Given the description of an element on the screen output the (x, y) to click on. 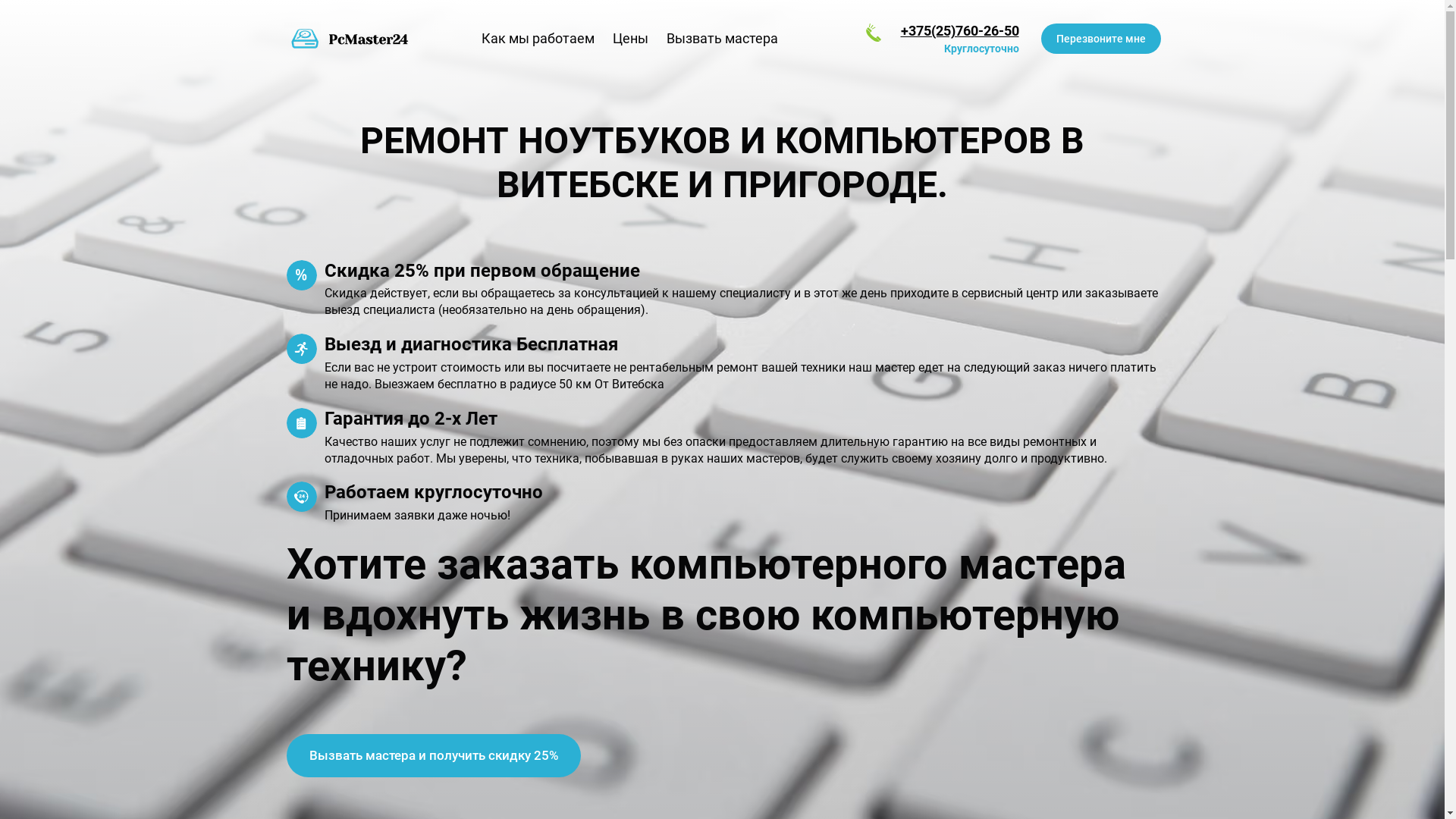
+375(25)760-26-50 Element type: text (959, 30)
